Given the description of an element on the screen output the (x, y) to click on. 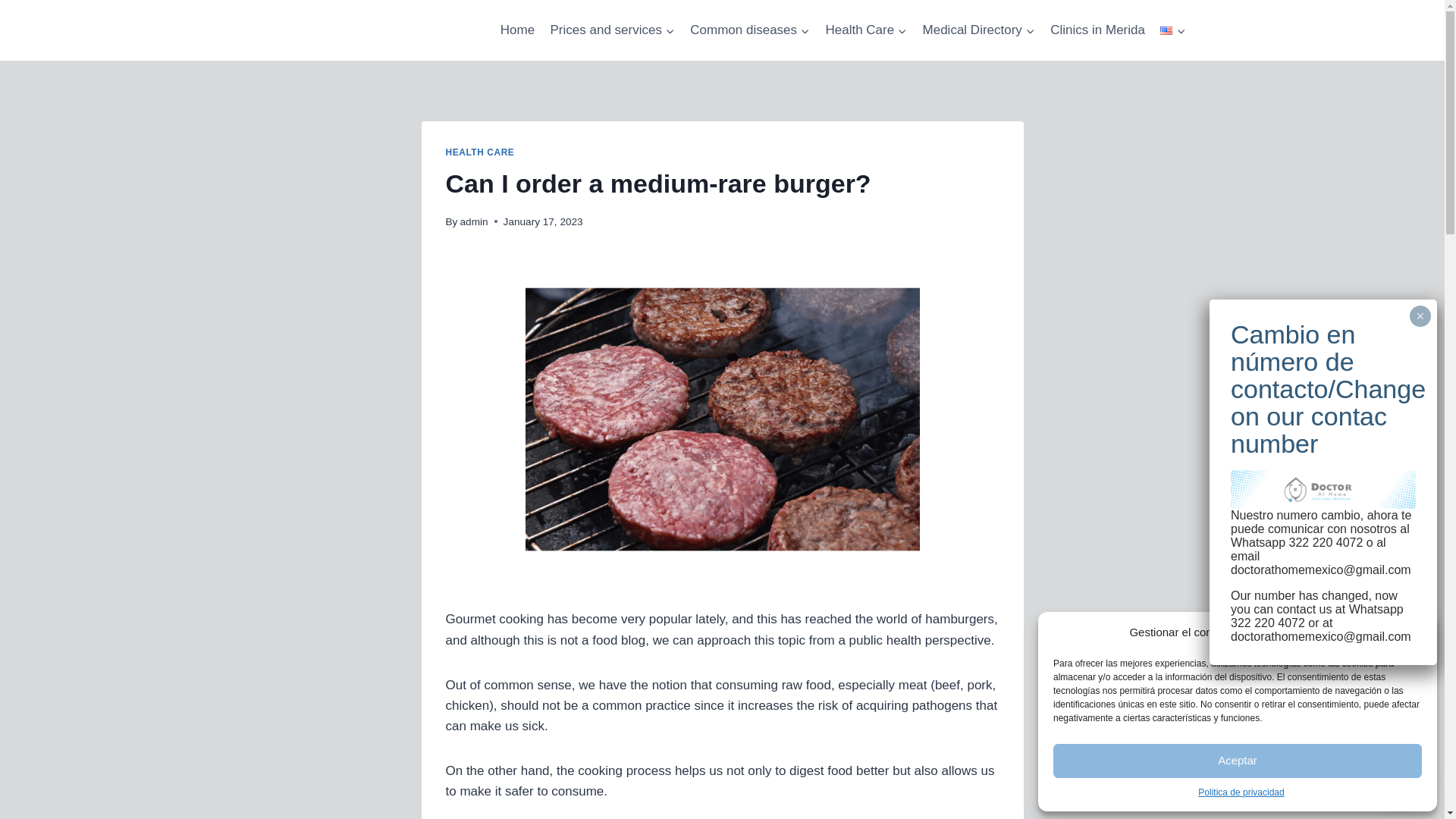
Aceptar (1237, 760)
Health Care (865, 30)
Home (518, 30)
Common diseases (749, 30)
Prices and services (611, 30)
Politica de privacidad (1241, 792)
